Given the description of an element on the screen output the (x, y) to click on. 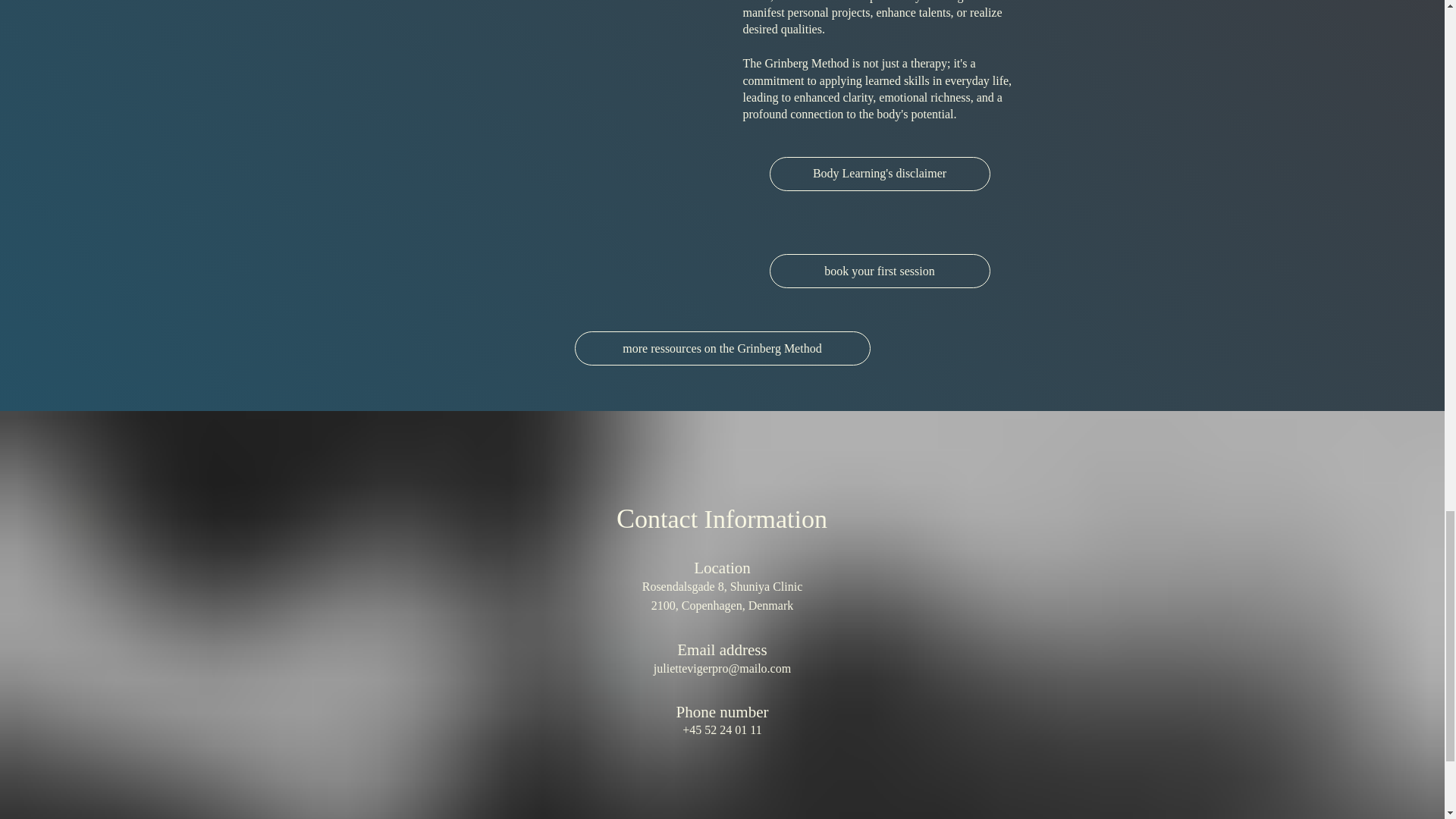
Body Learning's disclaimer (879, 173)
more ressources on the Grinberg Method (722, 348)
book your first session (879, 270)
